Given the description of an element on the screen output the (x, y) to click on. 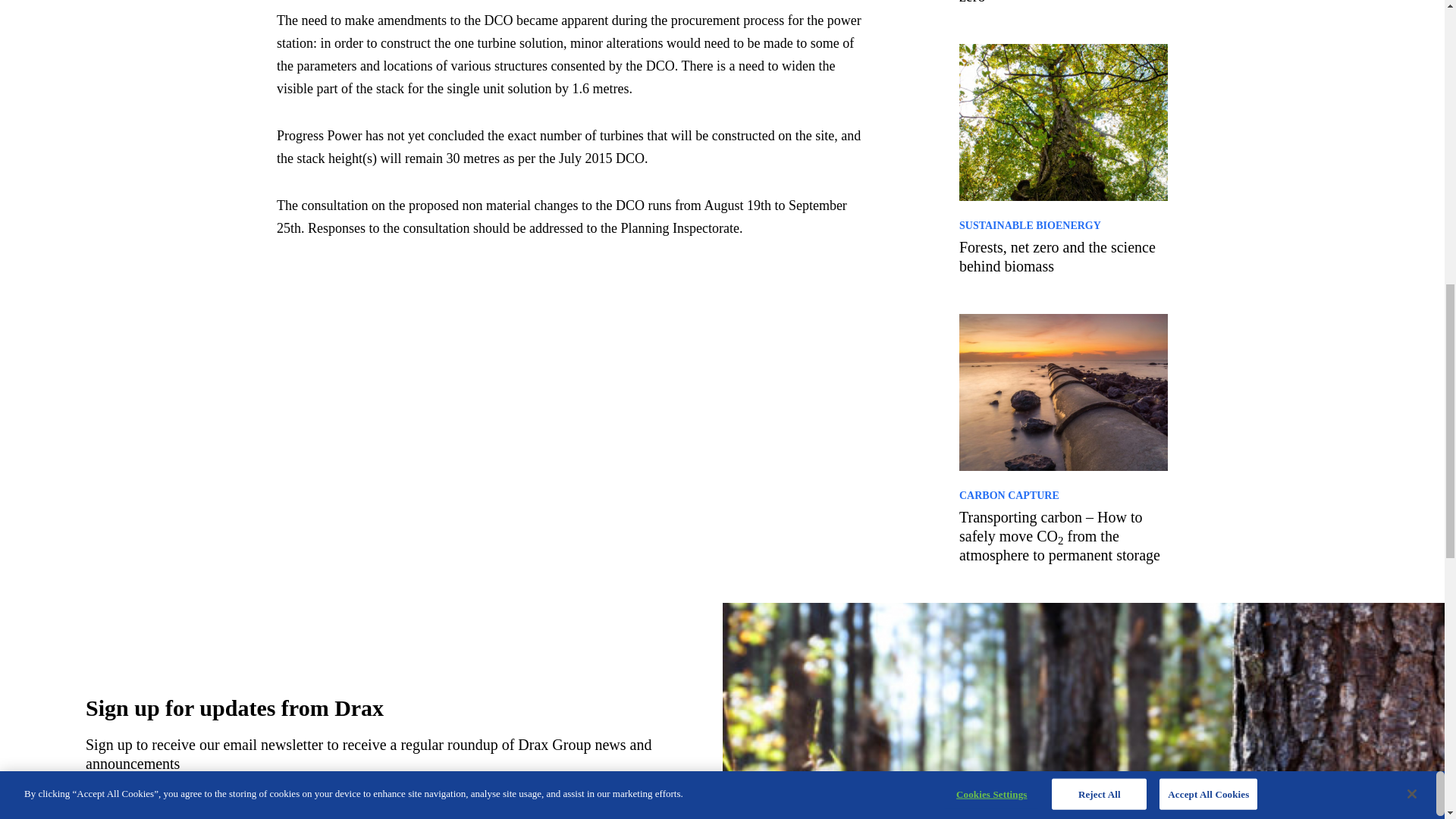
Forests, net zero and the science behind biomass (1063, 257)
